Given the description of an element on the screen output the (x, y) to click on. 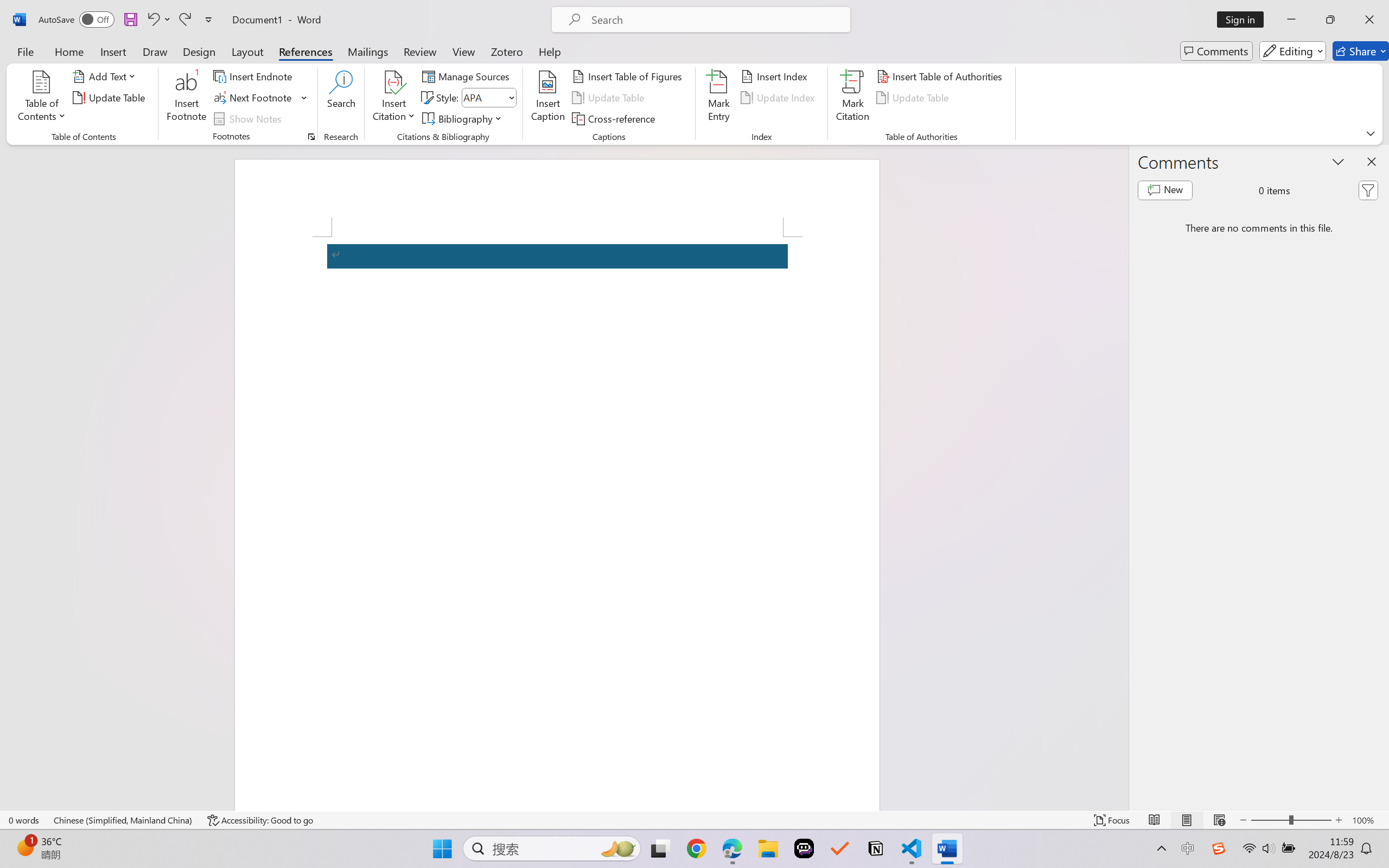
Insert Table of Figures... (628, 75)
Update Table (914, 97)
